Given the description of an element on the screen output the (x, y) to click on. 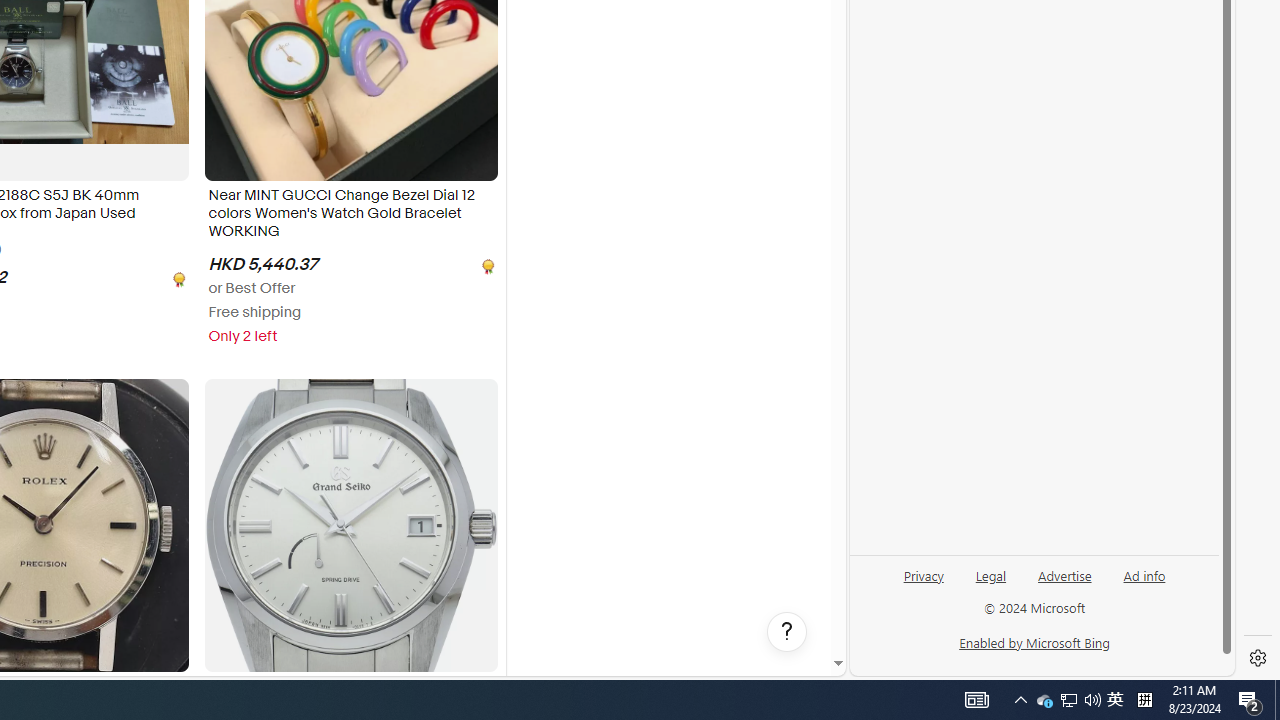
Help, opens dialogs (787, 632)
[object Undefined] (486, 264)
